Given the description of an element on the screen output the (x, y) to click on. 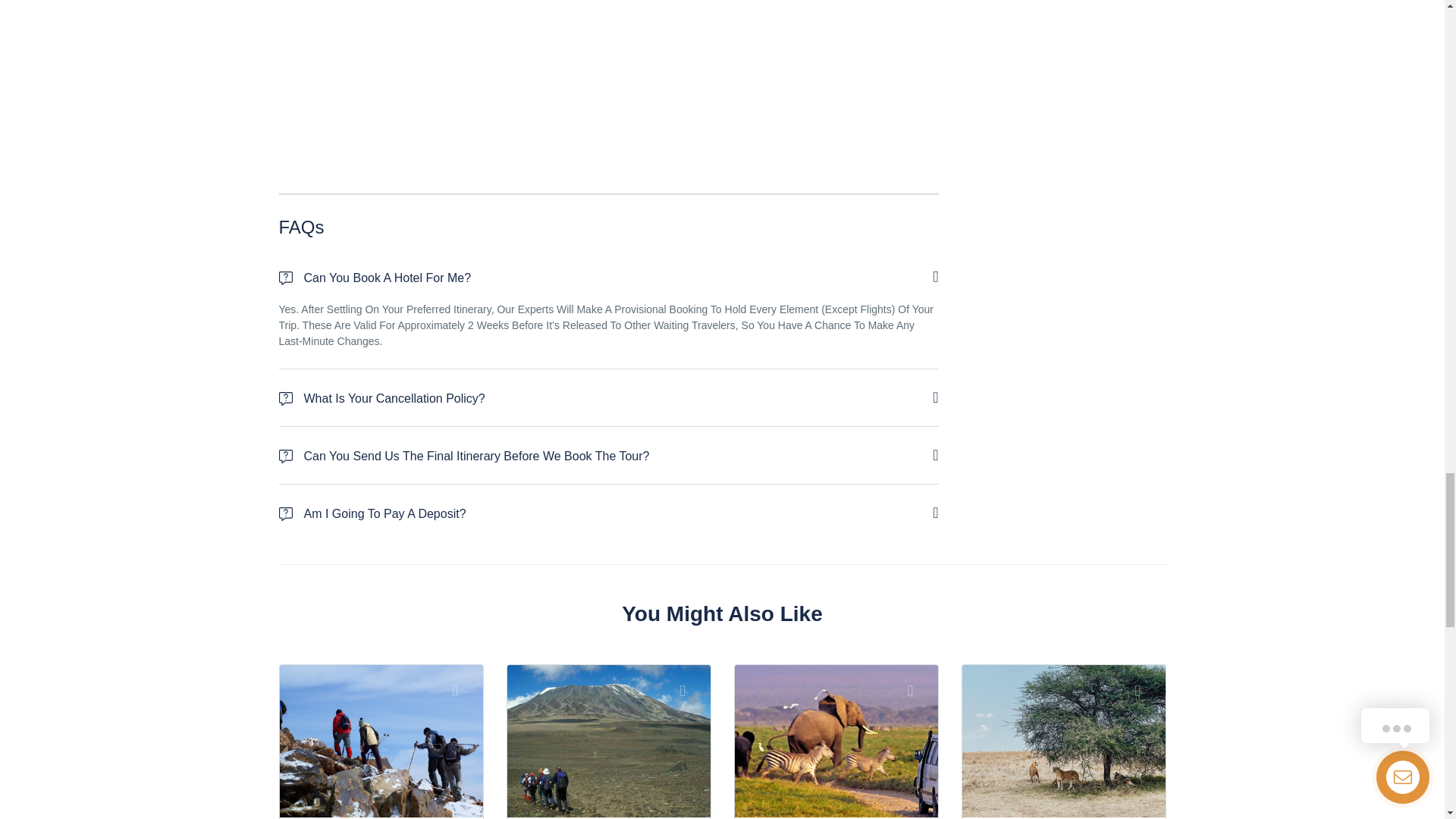
Add to wishlist (918, 689)
Add to wishlist (462, 689)
Add to wishlist (690, 689)
Add to wishlist (1145, 689)
